Given the description of an element on the screen output the (x, y) to click on. 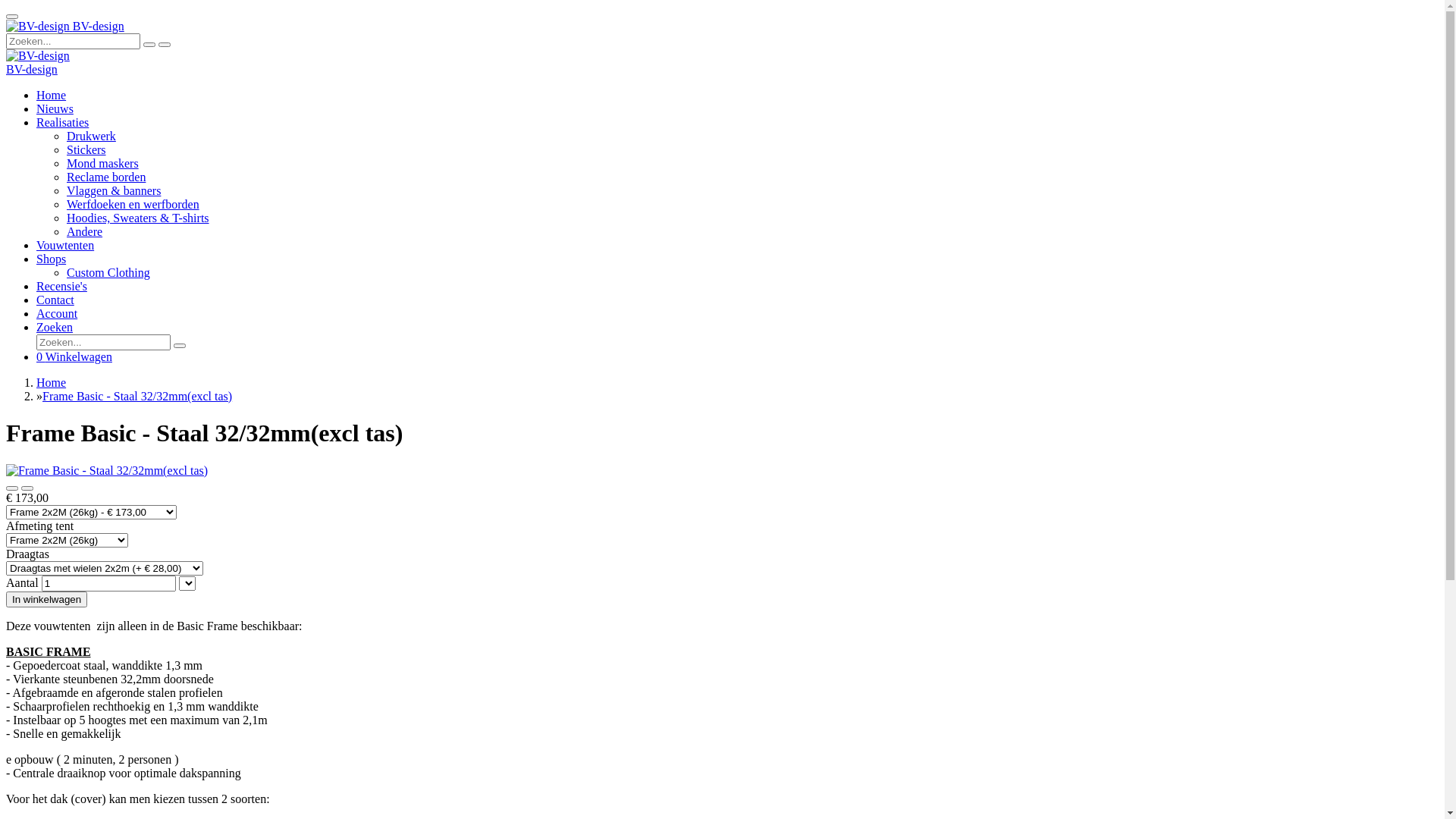
BV-design Element type: text (65, 25)
0 Winkelwagen Element type: text (74, 356)
Stickers Element type: text (86, 149)
Frame Basic - Staal 32/32mm(excl tas) Element type: text (137, 395)
Account Element type: text (56, 313)
Andere Element type: text (84, 231)
BV-design Element type: hover (37, 26)
Recensie's Element type: text (61, 285)
Home Element type: text (50, 382)
Mond maskers Element type: text (102, 162)
Nieuws Element type: text (54, 108)
Home Element type: text (50, 94)
In winkelwagen Element type: text (46, 599)
Realisaties Element type: text (62, 122)
Hoodies, Sweaters & T-shirts Element type: text (137, 217)
Zoeken Element type: text (54, 326)
Vouwtenten Element type: text (65, 244)
Vlaggen & banners Element type: text (113, 190)
Reclame borden Element type: text (105, 176)
Contact Element type: text (55, 299)
Werfdoeken en werfborden Element type: text (132, 203)
BV-design Element type: text (31, 68)
Custom Clothing Element type: text (108, 272)
BV-design Element type: hover (37, 55)
Drukwerk Element type: text (91, 135)
Shops Element type: text (50, 258)
